Given the description of an element on the screen output the (x, y) to click on. 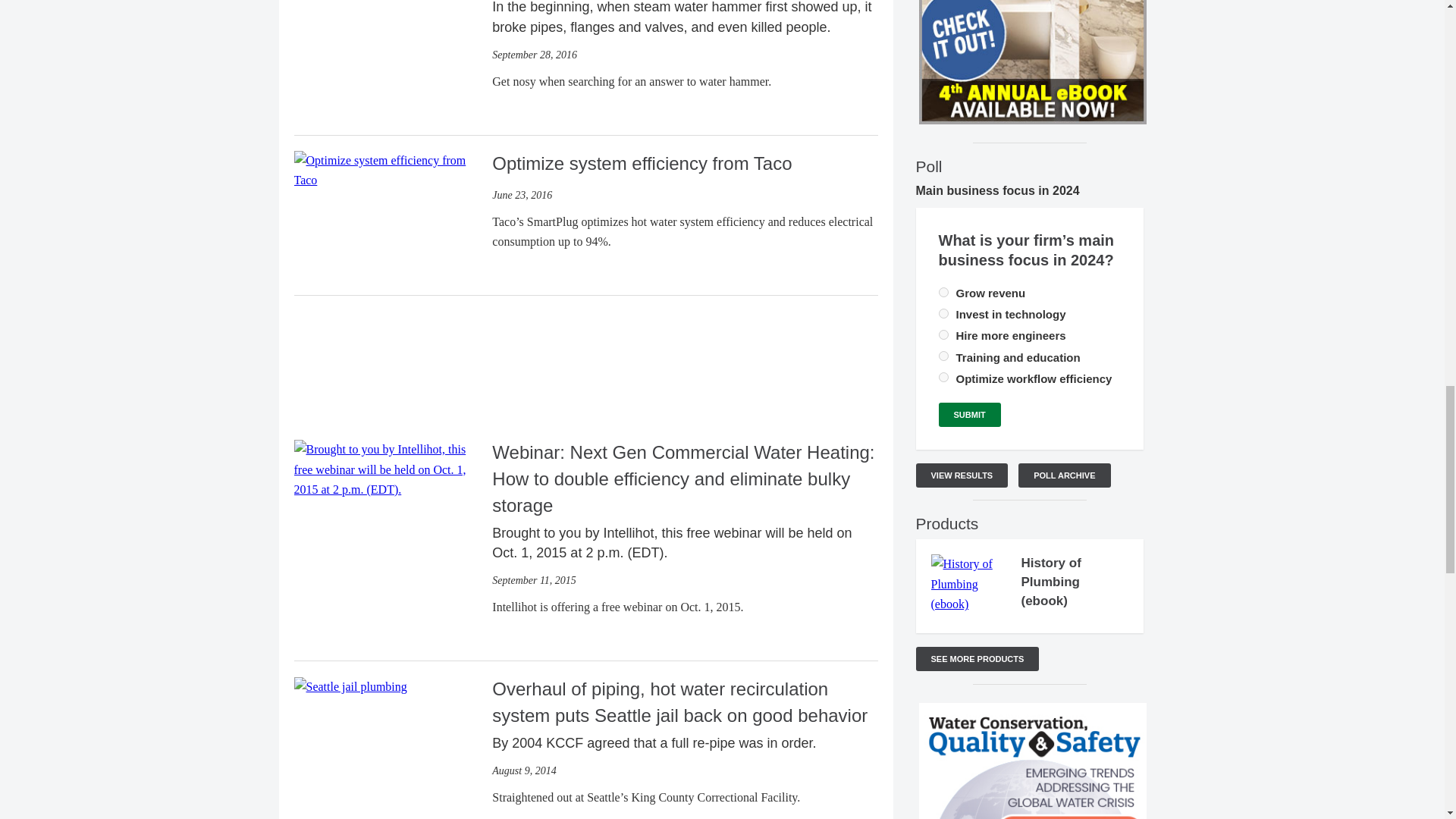
324 (944, 292)
325 (944, 313)
Optimize system efficiency from Taco (387, 169)
326 (944, 334)
Submit (970, 414)
327 (944, 377)
328 (944, 356)
